Given the description of an element on the screen output the (x, y) to click on. 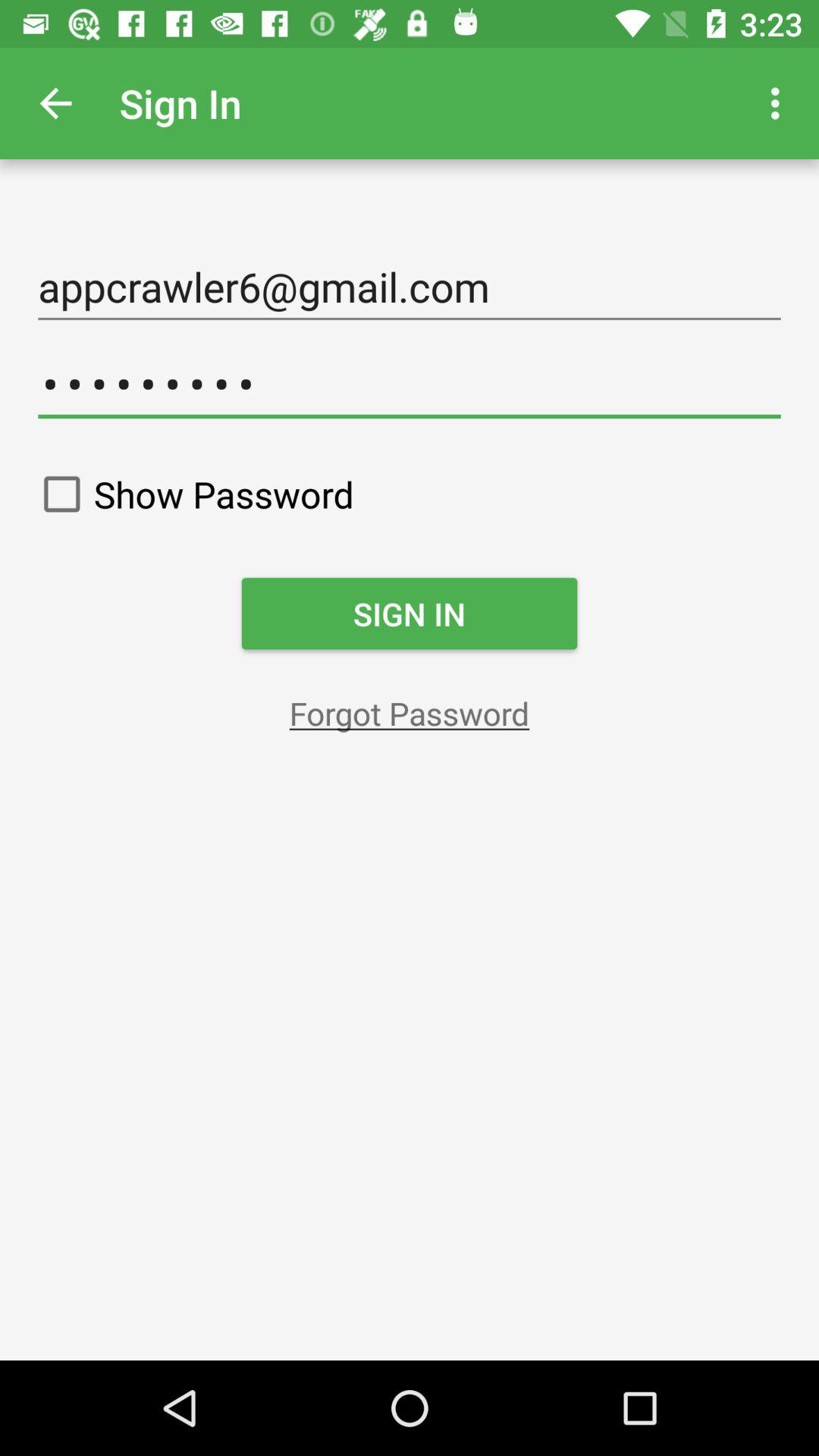
press item above the crowd3116 item (409, 286)
